Given the description of an element on the screen output the (x, y) to click on. 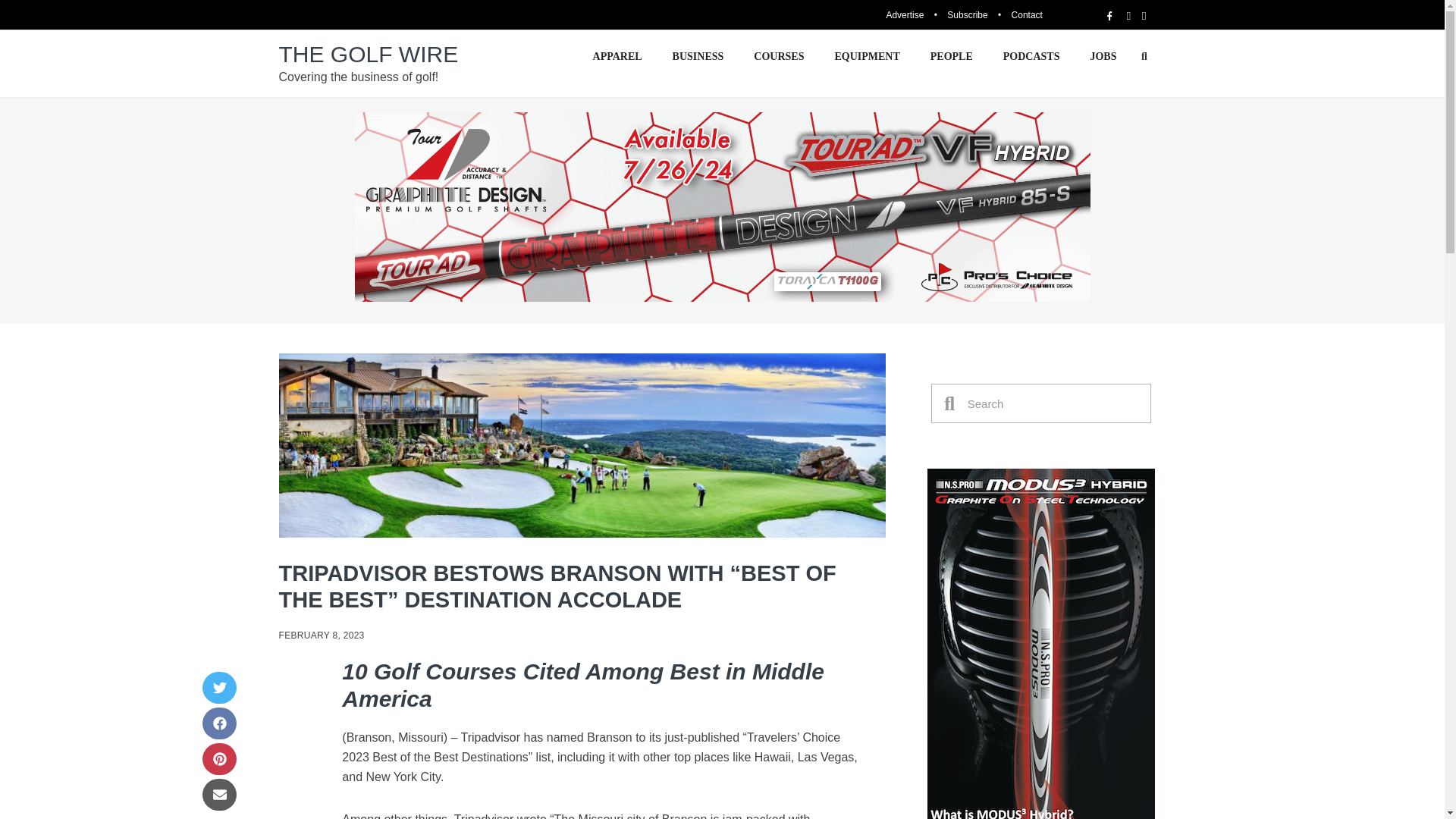
Email (218, 794)
PODCASTS (1031, 56)
BUSINESS (698, 56)
Contact (1026, 14)
Advertise (904, 14)
Pinterest (218, 758)
THE GOLF WIRE (368, 53)
Facebook (218, 723)
PEOPLE (951, 56)
APPAREL (618, 56)
